Given the description of an element on the screen output the (x, y) to click on. 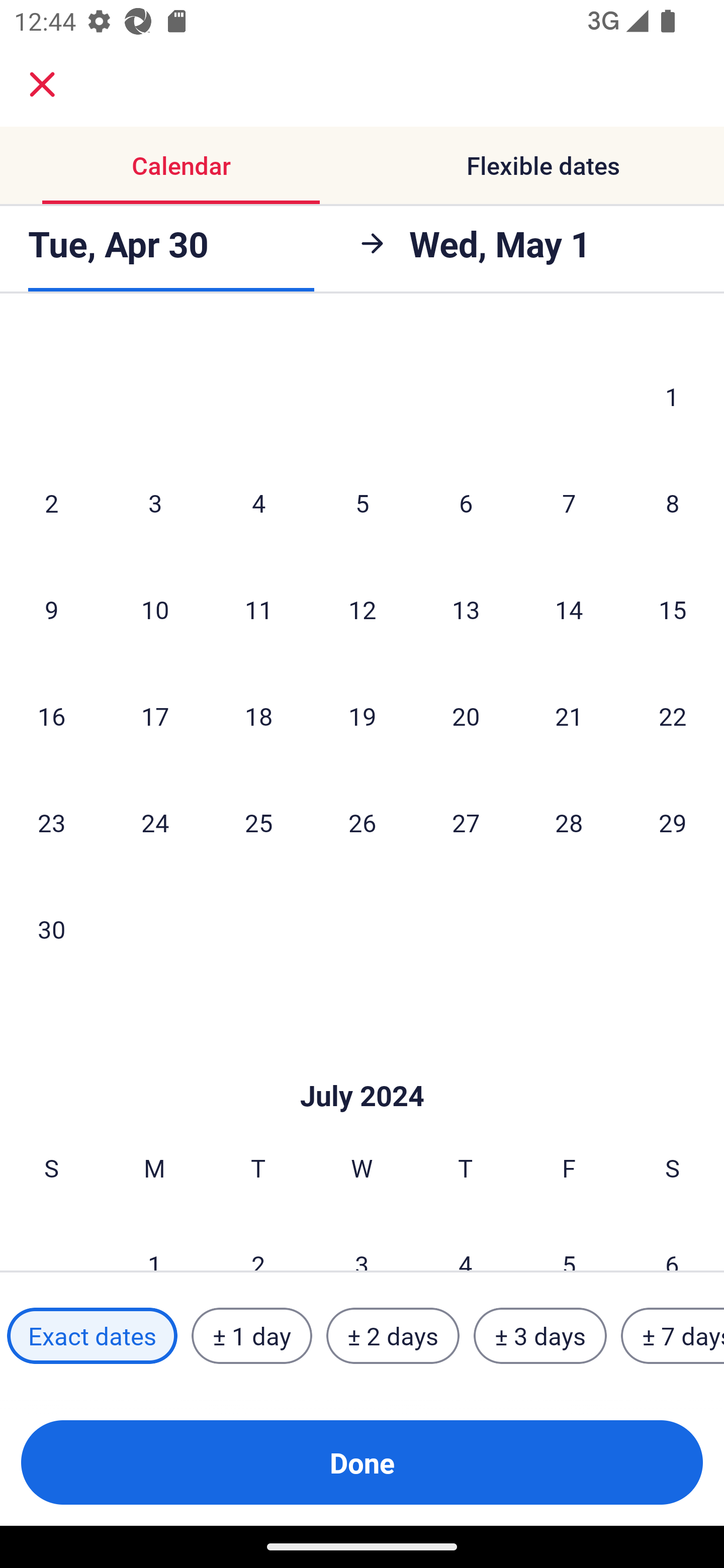
close. (42, 84)
Flexible dates (542, 164)
1 Saturday, June 1, 2024 (672, 396)
2 Sunday, June 2, 2024 (51, 503)
3 Monday, June 3, 2024 (155, 503)
4 Tuesday, June 4, 2024 (258, 503)
5 Wednesday, June 5, 2024 (362, 503)
6 Thursday, June 6, 2024 (465, 503)
7 Friday, June 7, 2024 (569, 503)
8 Saturday, June 8, 2024 (672, 503)
9 Sunday, June 9, 2024 (51, 609)
10 Monday, June 10, 2024 (155, 609)
11 Tuesday, June 11, 2024 (258, 609)
12 Wednesday, June 12, 2024 (362, 609)
13 Thursday, June 13, 2024 (465, 609)
14 Friday, June 14, 2024 (569, 609)
15 Saturday, June 15, 2024 (672, 609)
16 Sunday, June 16, 2024 (51, 715)
17 Monday, June 17, 2024 (155, 715)
18 Tuesday, June 18, 2024 (258, 715)
19 Wednesday, June 19, 2024 (362, 715)
20 Thursday, June 20, 2024 (465, 715)
21 Friday, June 21, 2024 (569, 715)
22 Saturday, June 22, 2024 (672, 715)
23 Sunday, June 23, 2024 (51, 822)
24 Monday, June 24, 2024 (155, 822)
25 Tuesday, June 25, 2024 (258, 822)
26 Wednesday, June 26, 2024 (362, 822)
27 Thursday, June 27, 2024 (465, 822)
28 Friday, June 28, 2024 (569, 822)
29 Saturday, June 29, 2024 (672, 822)
30 Sunday, June 30, 2024 (51, 929)
Skip to Done (362, 1065)
Exact dates (92, 1335)
± 1 day (251, 1335)
± 2 days (392, 1335)
± 3 days (539, 1335)
± 7 days (672, 1335)
Done (361, 1462)
